Given the description of an element on the screen output the (x, y) to click on. 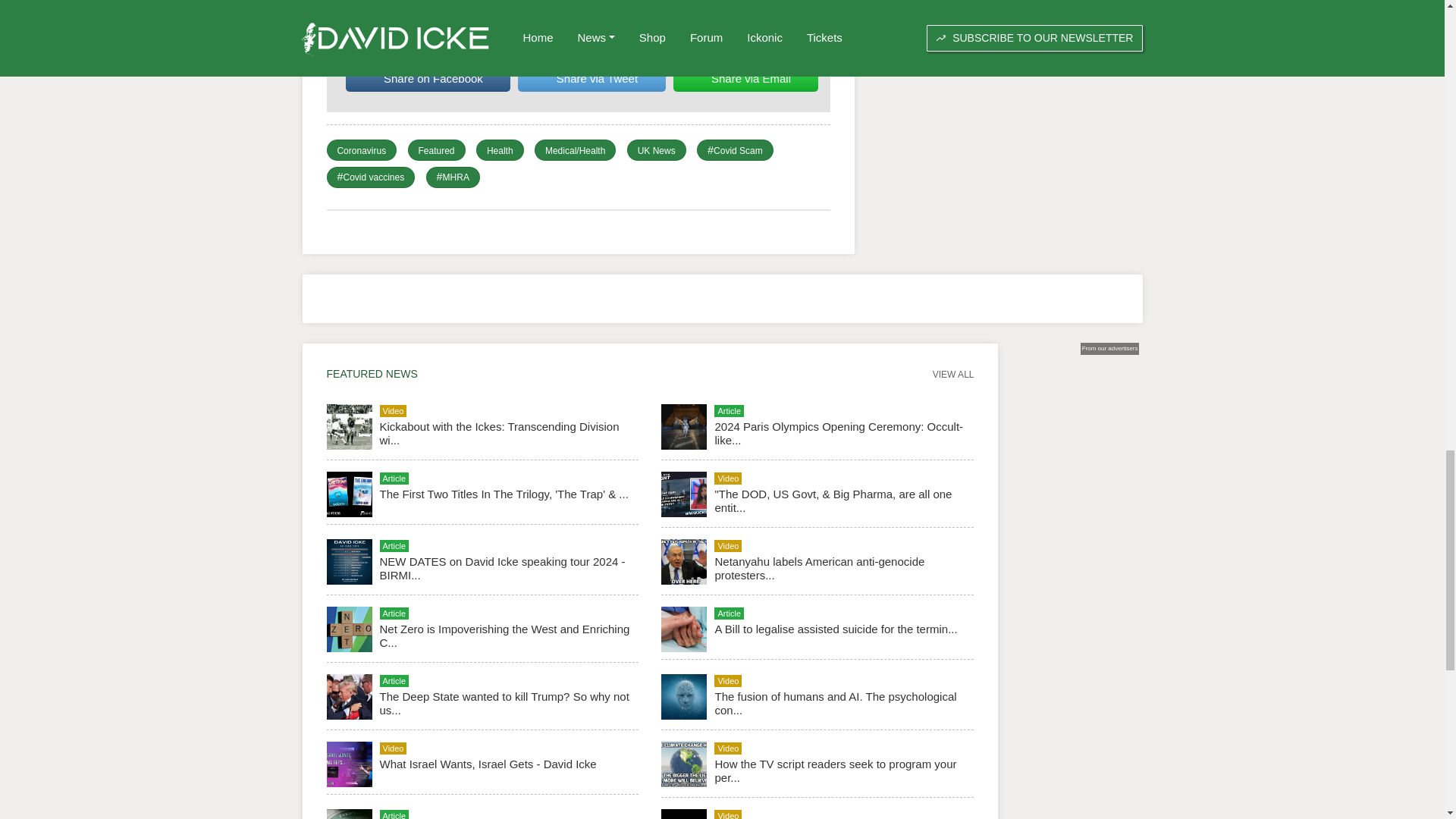
Coronavirus (360, 150)
Share on Facebook (428, 78)
Share via Email (745, 78)
Health (499, 150)
Share via Tweet (591, 78)
Featured (436, 150)
